Given the description of an element on the screen output the (x, y) to click on. 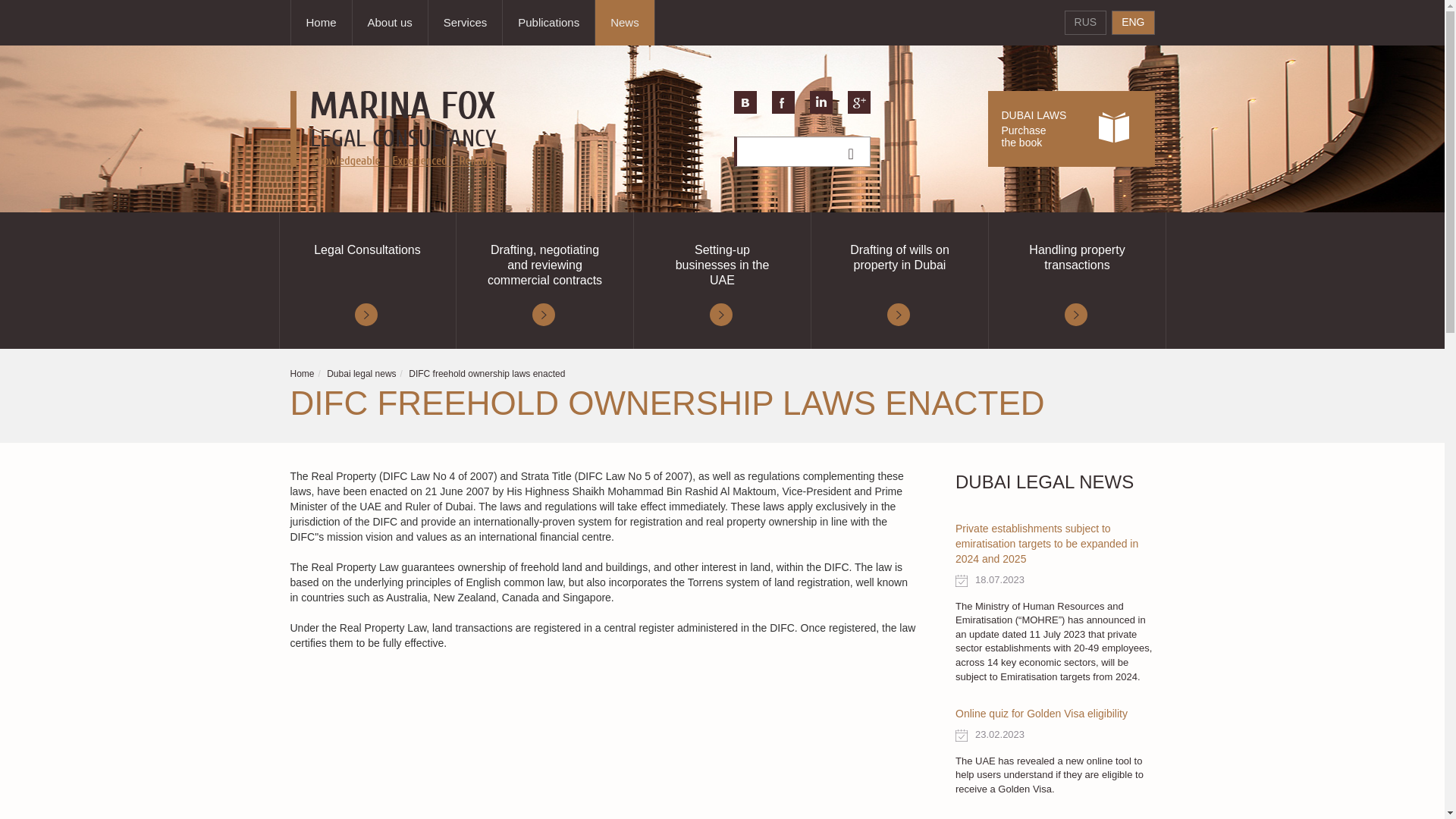
Home (321, 22)
Handling property transactions (1077, 280)
ENG (1133, 22)
RUS (1085, 22)
Legal Consultations (368, 280)
News (624, 22)
Home (301, 373)
Setting-up businesses in the UAE (1070, 128)
Drafting, negotiating and reviewing commercial contracts (721, 280)
Services (545, 280)
Drafting of wills on property in Dubai (465, 22)
Dubai legal news (899, 280)
Marina Fox Legal Consultancy (361, 373)
